Given the description of an element on the screen output the (x, y) to click on. 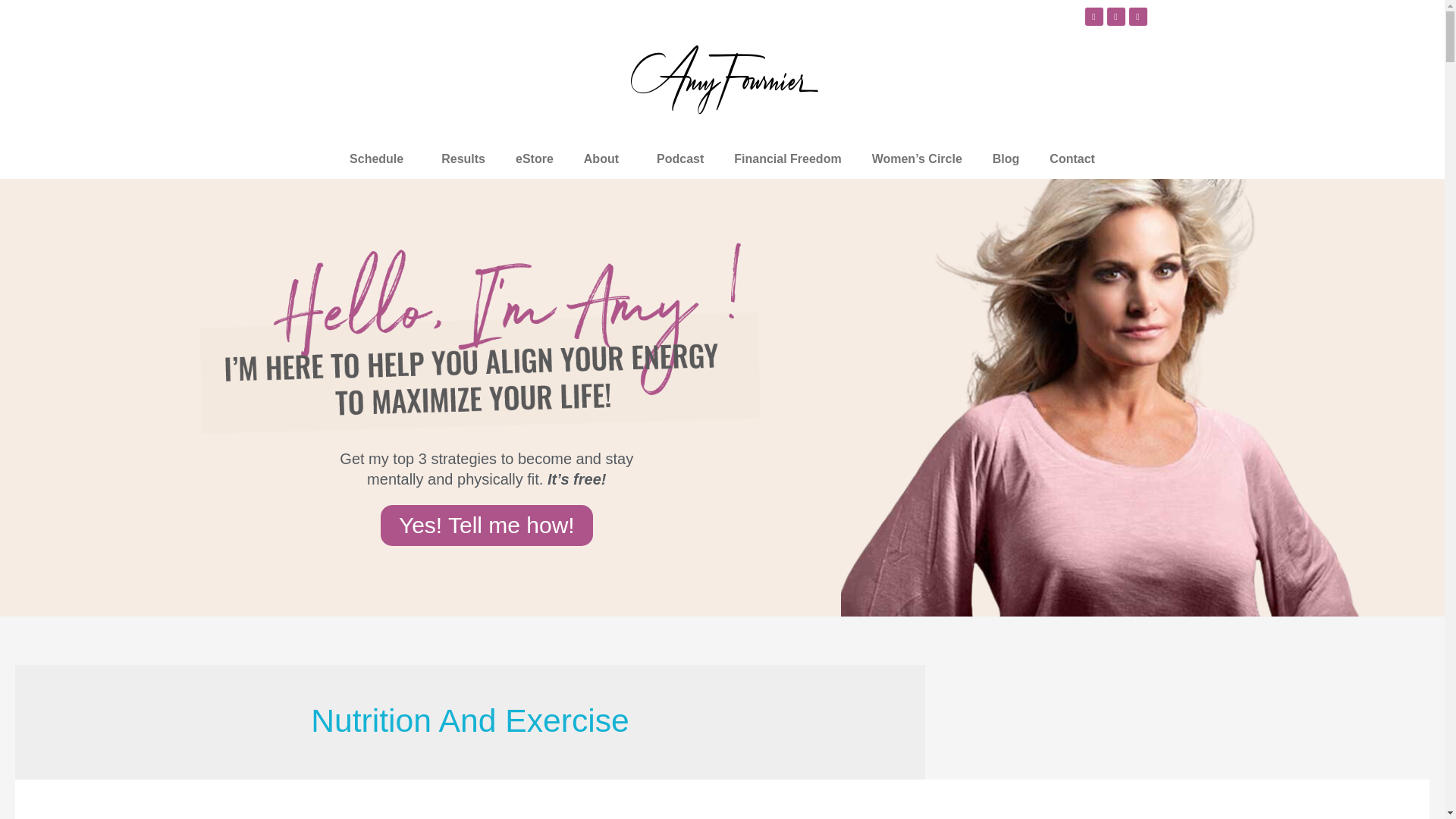
eStore (534, 159)
Schedule (380, 159)
Facebook (1115, 16)
Results (463, 159)
Podcast (680, 159)
Financial Freedom (787, 159)
About (605, 159)
Youtube (1093, 16)
Instagram (1137, 16)
Blog (1005, 159)
Contact (1071, 159)
